Given the description of an element on the screen output the (x, y) to click on. 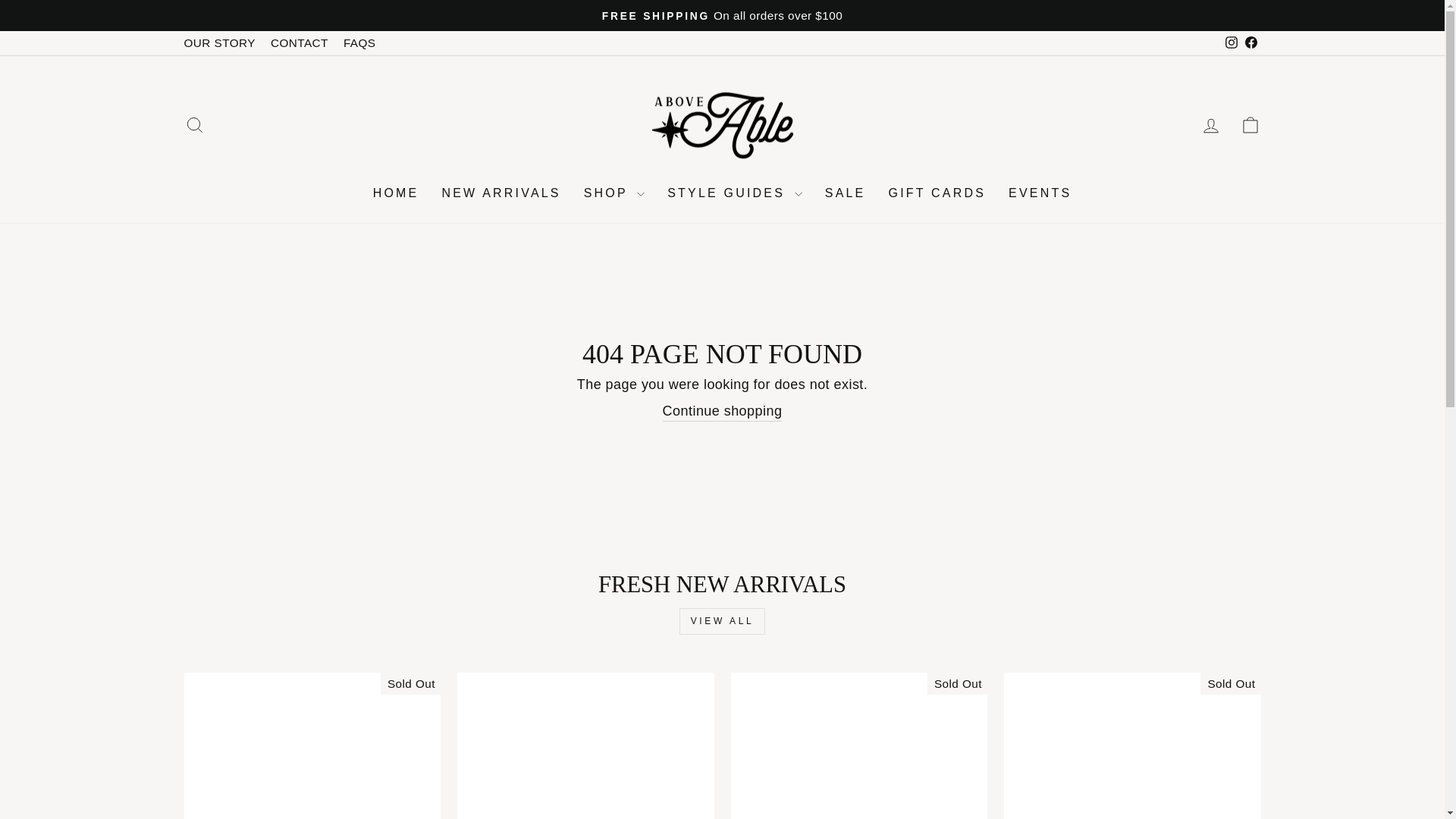
instagram (194, 124)
ICON-BAG-MINIMAL (1231, 42)
CONTACT (1249, 124)
OUR STORY (299, 42)
ICON-SEARCH (219, 42)
FAQS (194, 124)
ACCOUNT (360, 42)
